Given the description of an element on the screen output the (x, y) to click on. 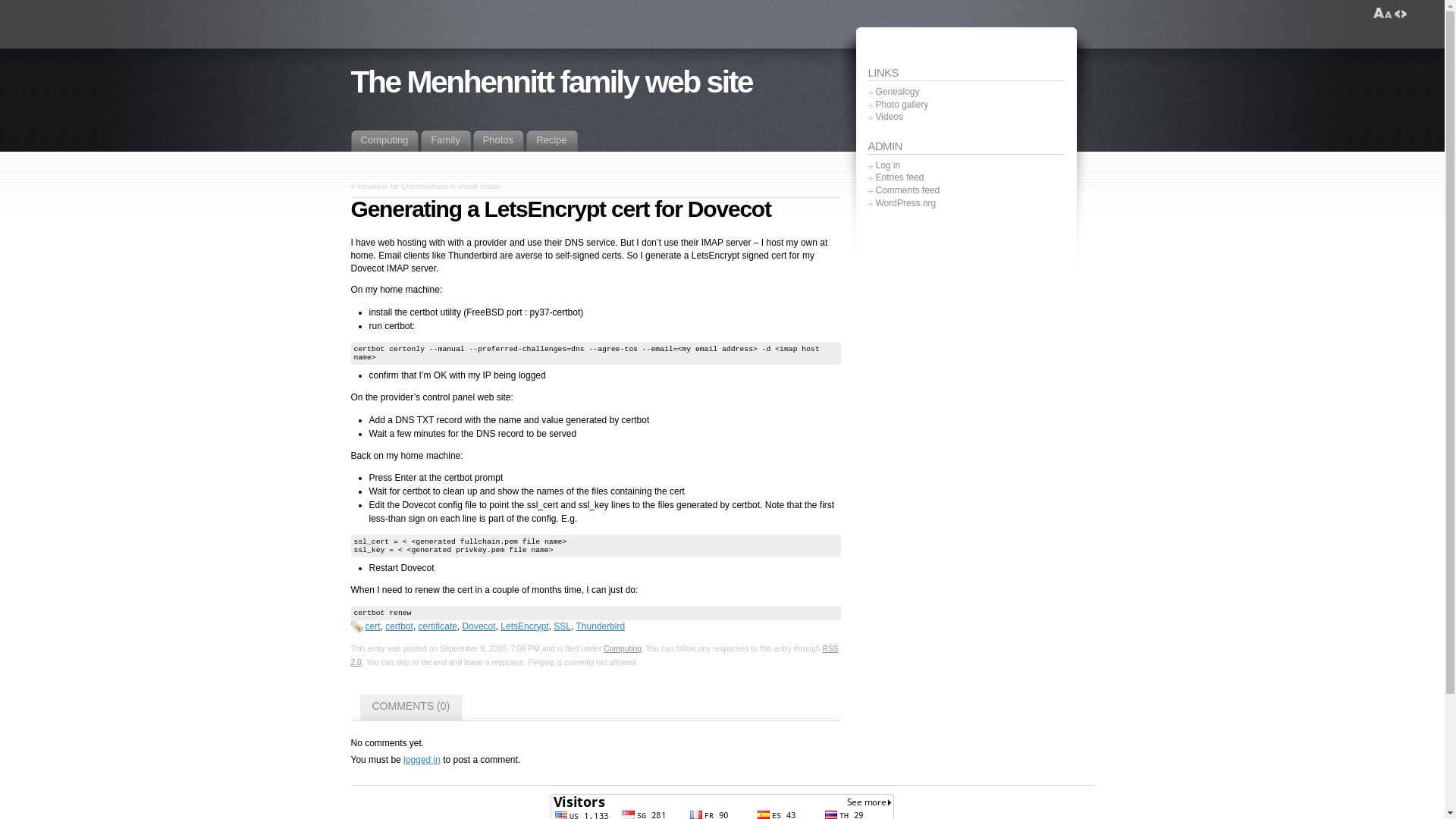
Computing Element type: text (622, 648)
Comments feed Element type: text (907, 190)
Entries feed Element type: text (899, 177)
Log in Element type: text (887, 165)
Genealogy Element type: text (897, 91)
SSL Element type: text (562, 625)
Computing Element type: text (384, 140)
COMMENTS (0) Element type: text (410, 707)
RSS 2.0 Element type: text (593, 655)
Dovecot Element type: text (478, 625)
Family Element type: text (445, 140)
Visualiser for QHostAddress in Visual Studio Element type: text (428, 186)
Photos Element type: text (498, 140)
Switch between full and fixed width Element type: hover (1400, 13)
Increase/Decrease text size Element type: hover (1382, 13)
cert Element type: text (372, 625)
certbot Element type: text (399, 625)
The Menhennitt family web site Element type: text (551, 81)
Videos Element type: text (888, 116)
logged in Element type: text (421, 759)
WordPress.org Element type: text (905, 203)
certificate Element type: text (437, 625)
Thunderbird Element type: text (599, 625)
Recipe Element type: text (551, 140)
Photo gallery Element type: text (901, 104)
LetsEncrypt Element type: text (524, 625)
